Given the description of an element on the screen output the (x, y) to click on. 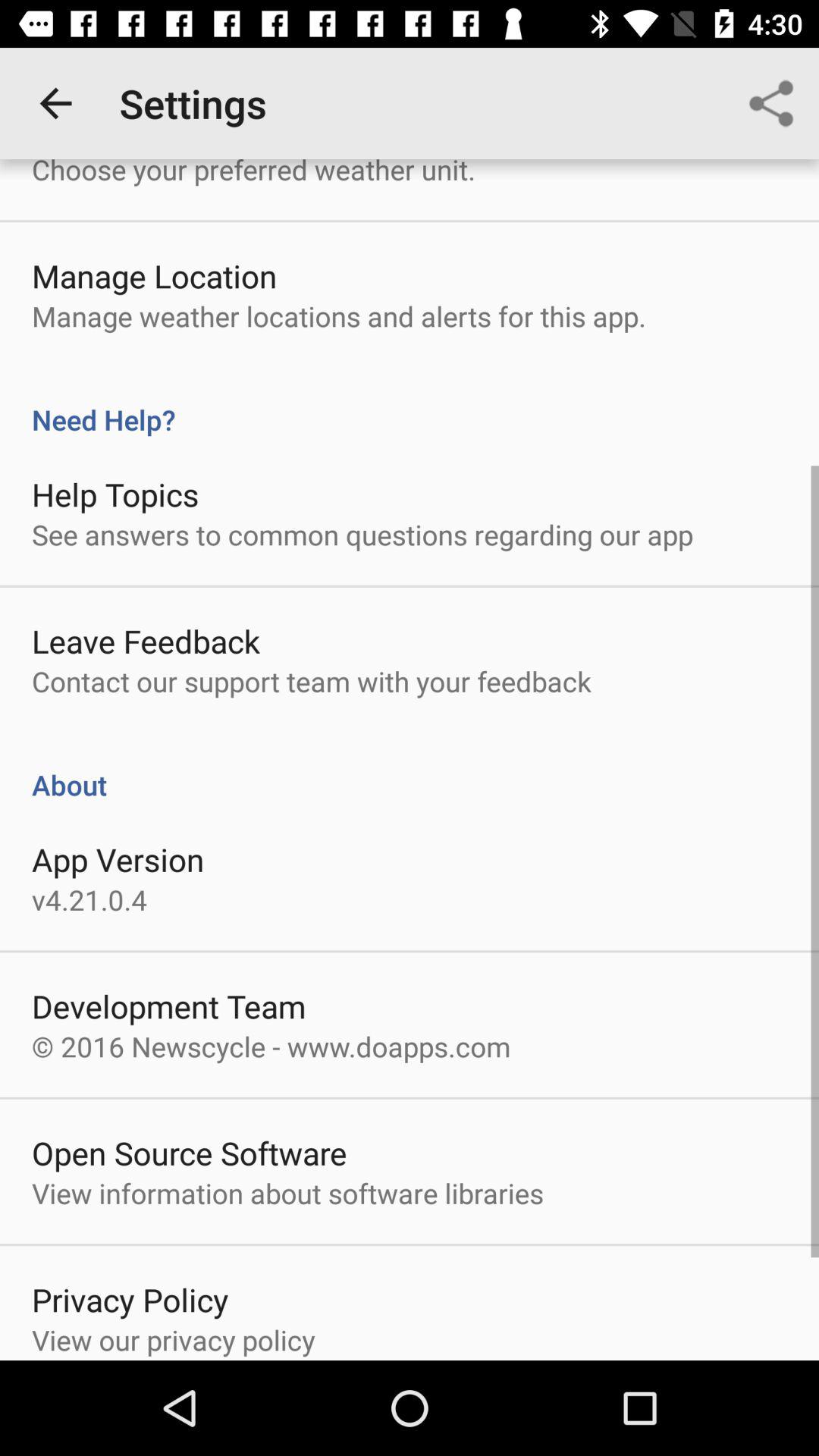
open the manage weather locations item (338, 315)
